Given the description of an element on the screen output the (x, y) to click on. 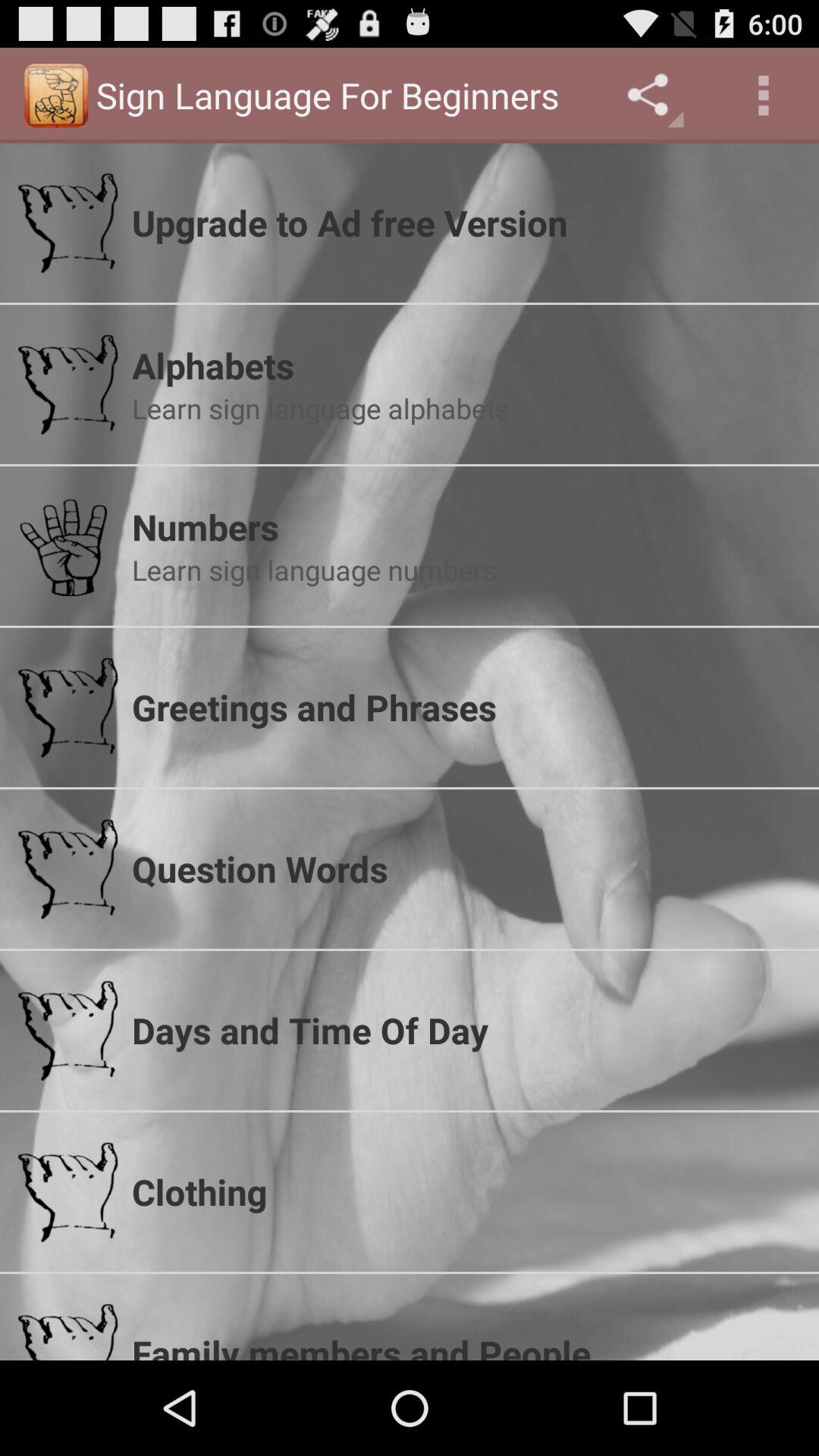
select the item below learn sign language item (465, 707)
